Given the description of an element on the screen output the (x, y) to click on. 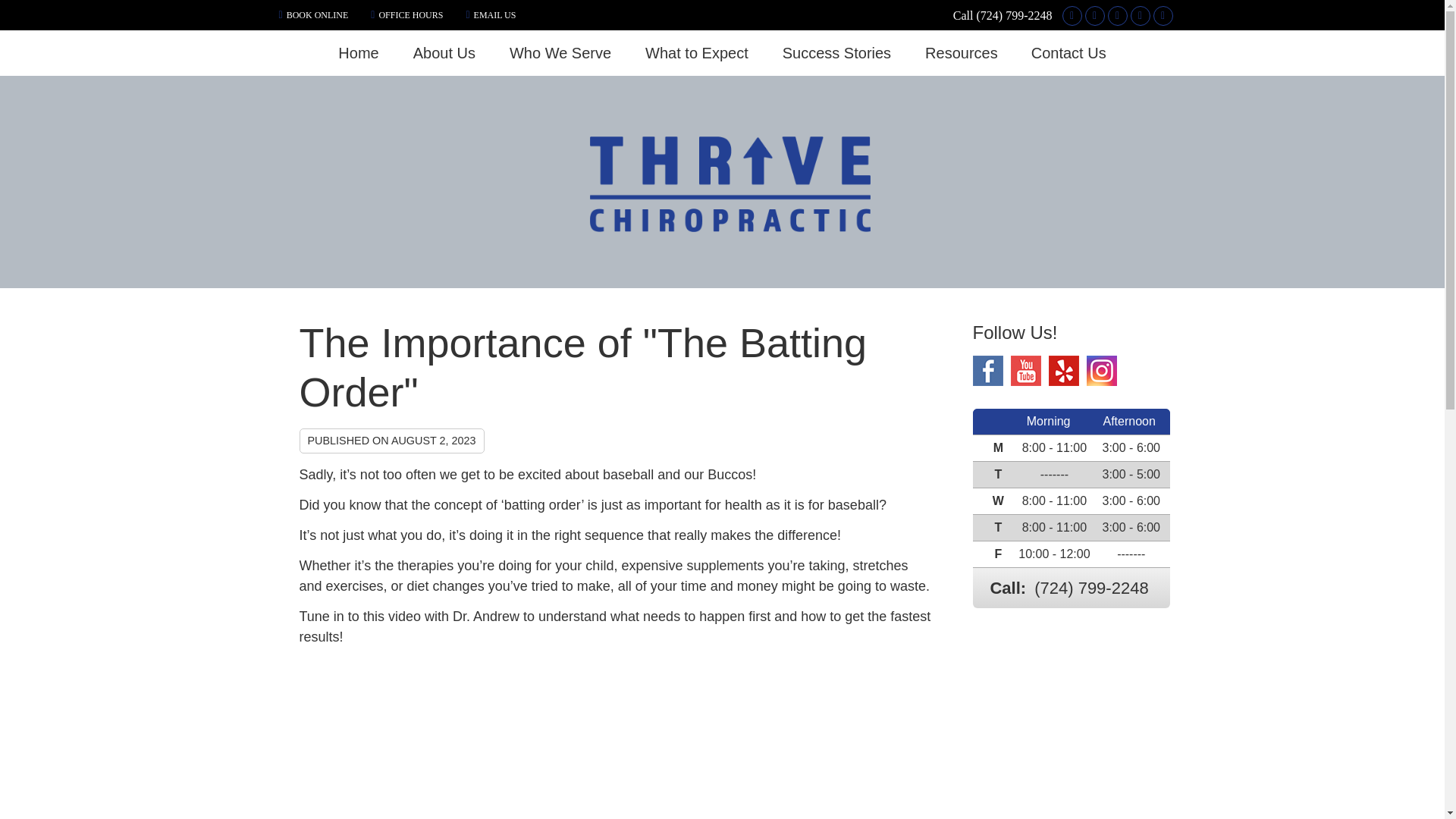
Home (358, 52)
Contact (490, 14)
EMAIL US (490, 14)
Success Stories (836, 52)
BOOK ONLINE (313, 14)
Who We Serve (560, 52)
Resources (961, 52)
Facebook Social Button (1093, 14)
OFFICE HOURS (405, 14)
About Us (444, 52)
